Given the description of an element on the screen output the (x, y) to click on. 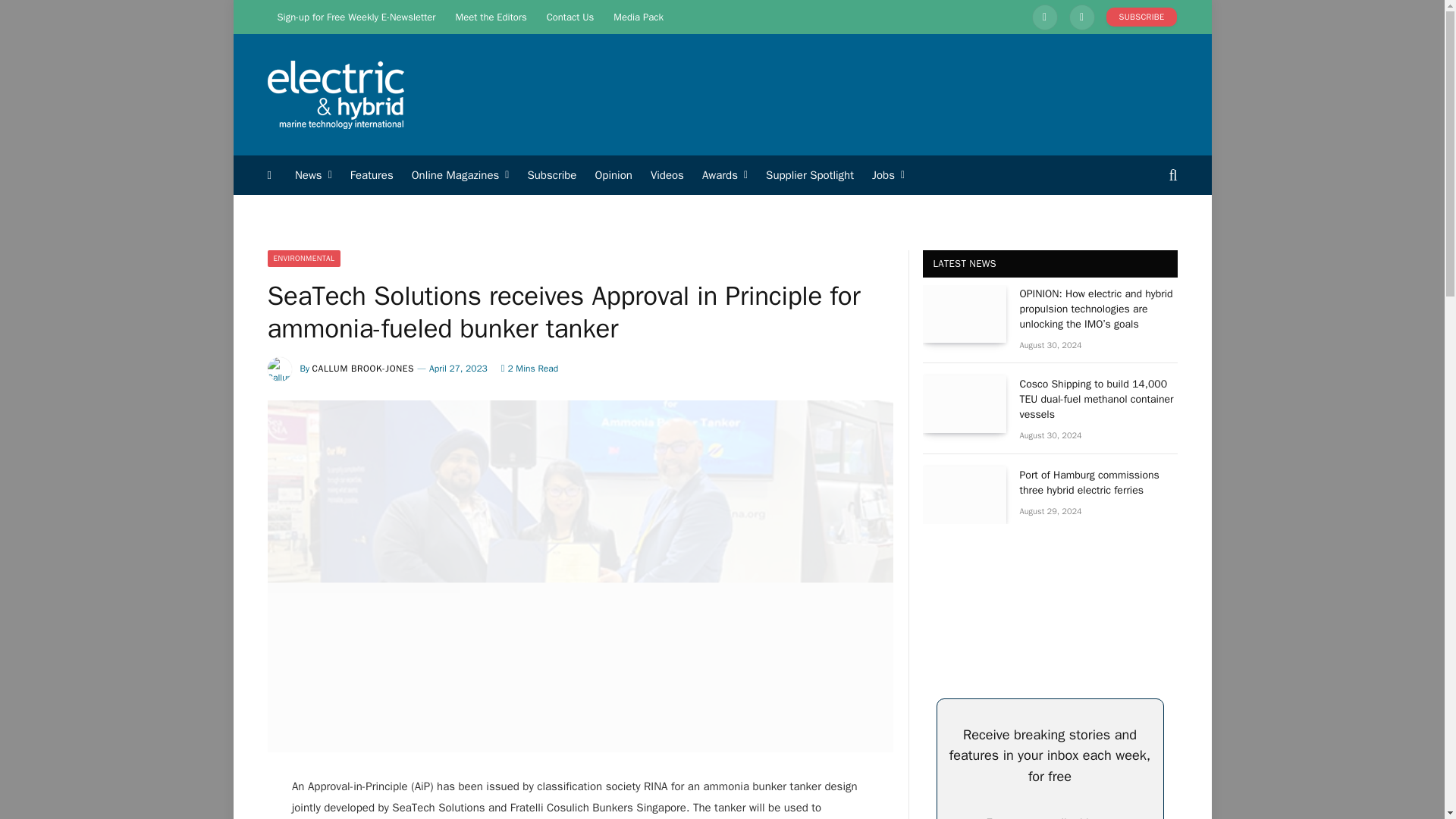
Facebook (1081, 17)
Meet the Editors (491, 17)
Sign-up for Free Weekly E-Newsletter (355, 17)
Contact Us (570, 17)
Media Pack (638, 17)
Posts by Callum Brook-Jones (363, 368)
Electric Hybrid Marine Technology (334, 94)
SUBSCRIBE (1141, 16)
LinkedIn (1045, 17)
